Given the description of an element on the screen output the (x, y) to click on. 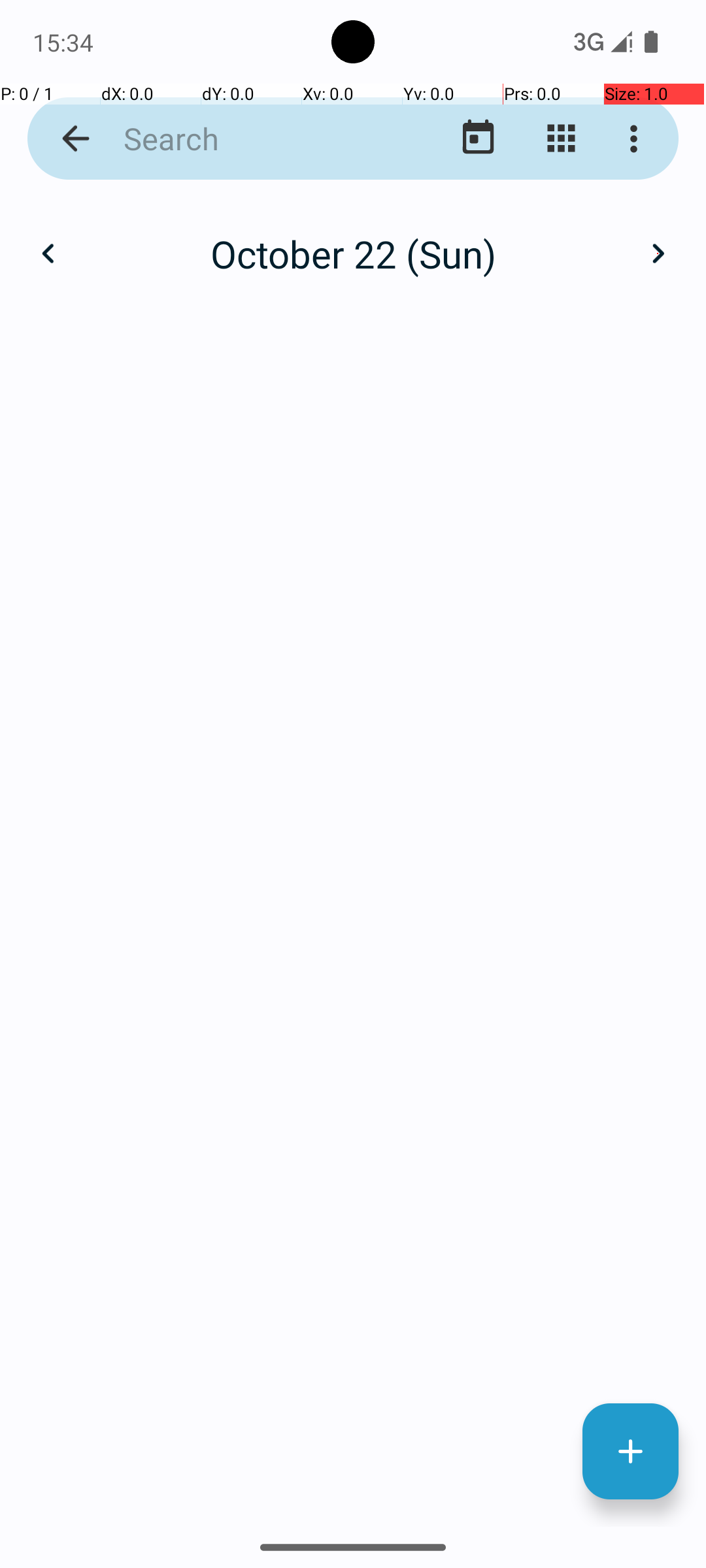
October 22 (Sun) Element type: android.widget.TextView (352, 253)
